Given the description of an element on the screen output the (x, y) to click on. 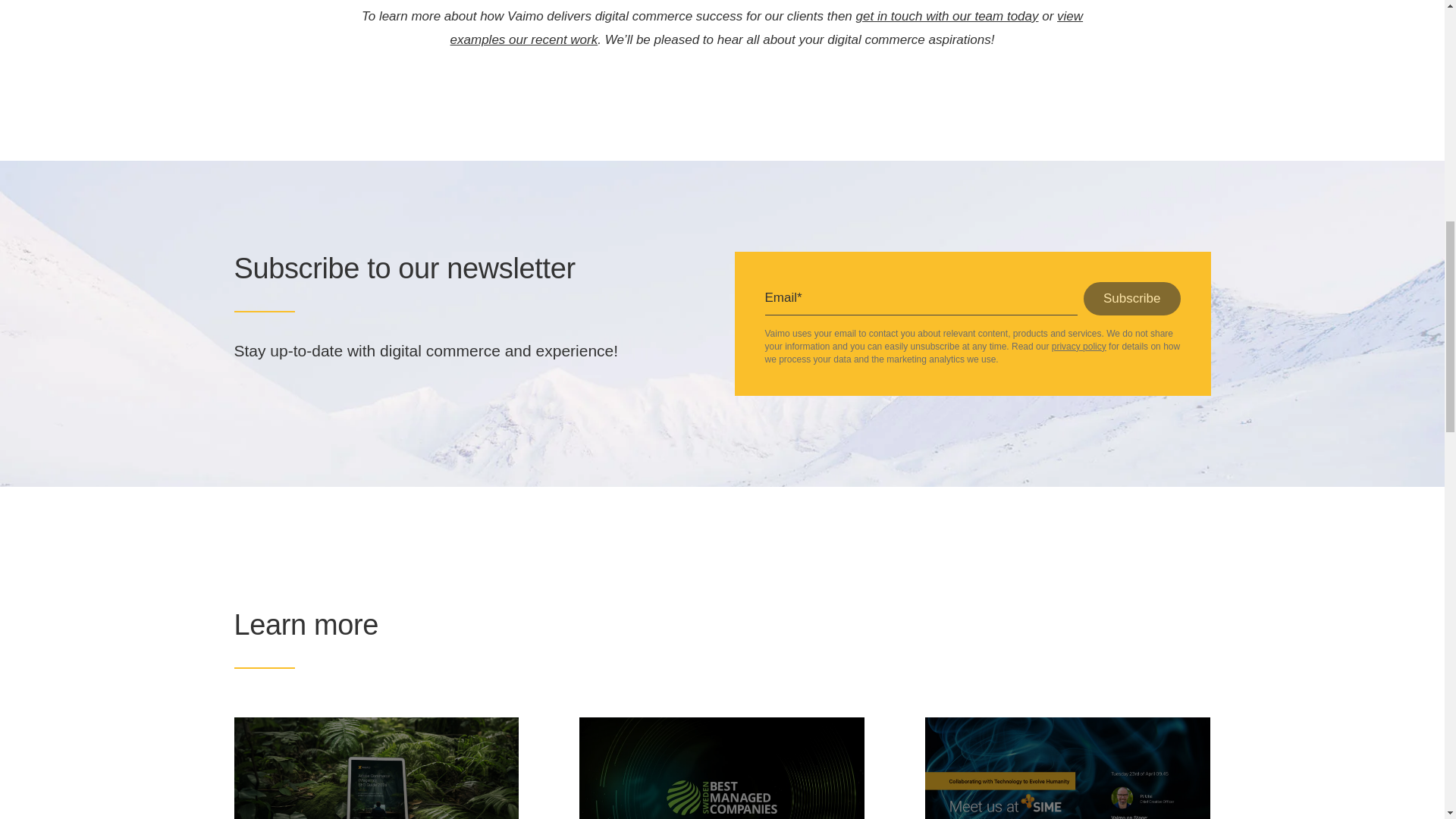
Subscribe (1131, 298)
